Given the description of an element on the screen output the (x, y) to click on. 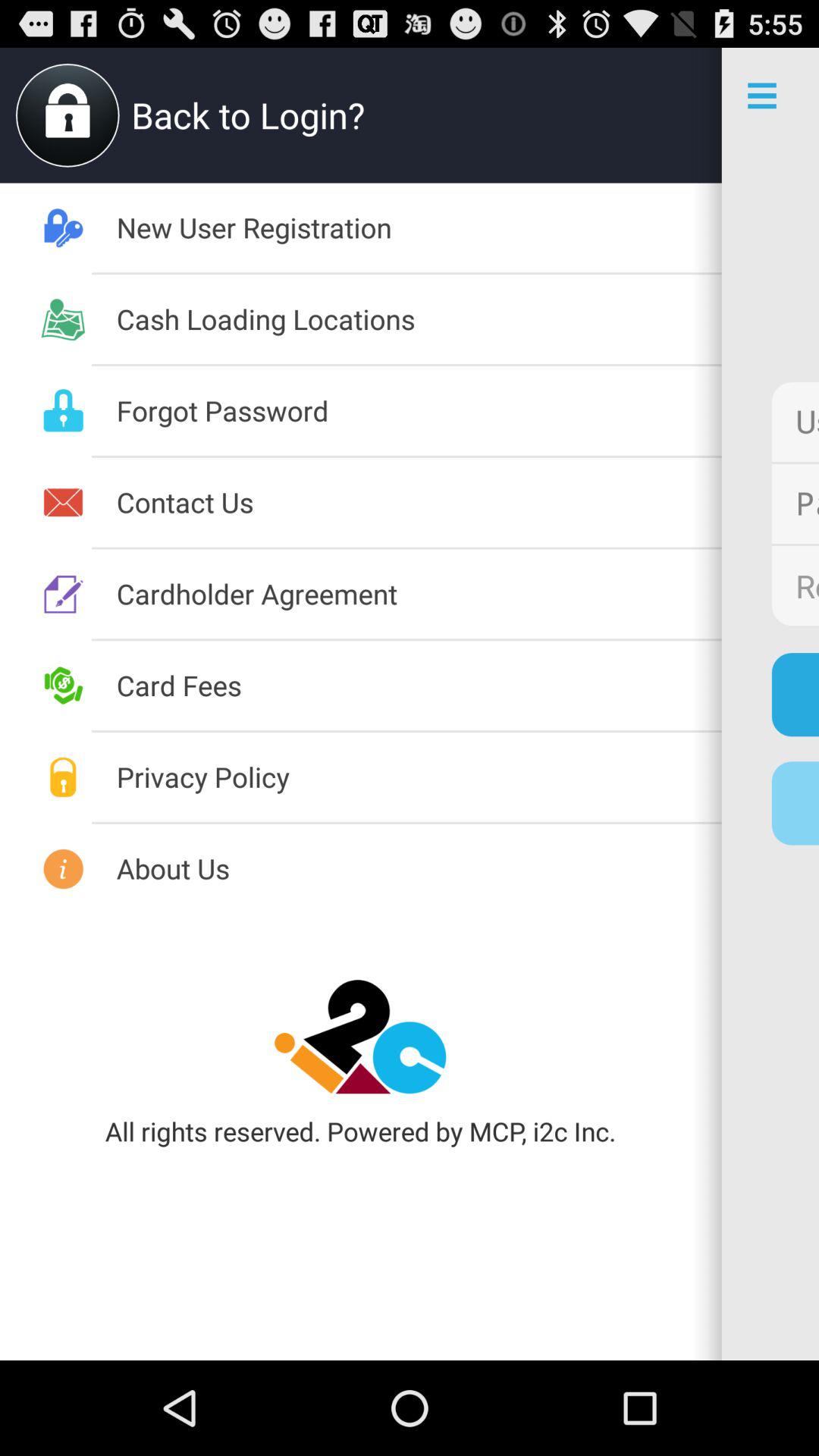
click on icon at left side of cardholder agreement (63, 593)
select the icon which consists of three horizontal bars (770, 95)
click on more option icon (770, 95)
